Given the description of an element on the screen output the (x, y) to click on. 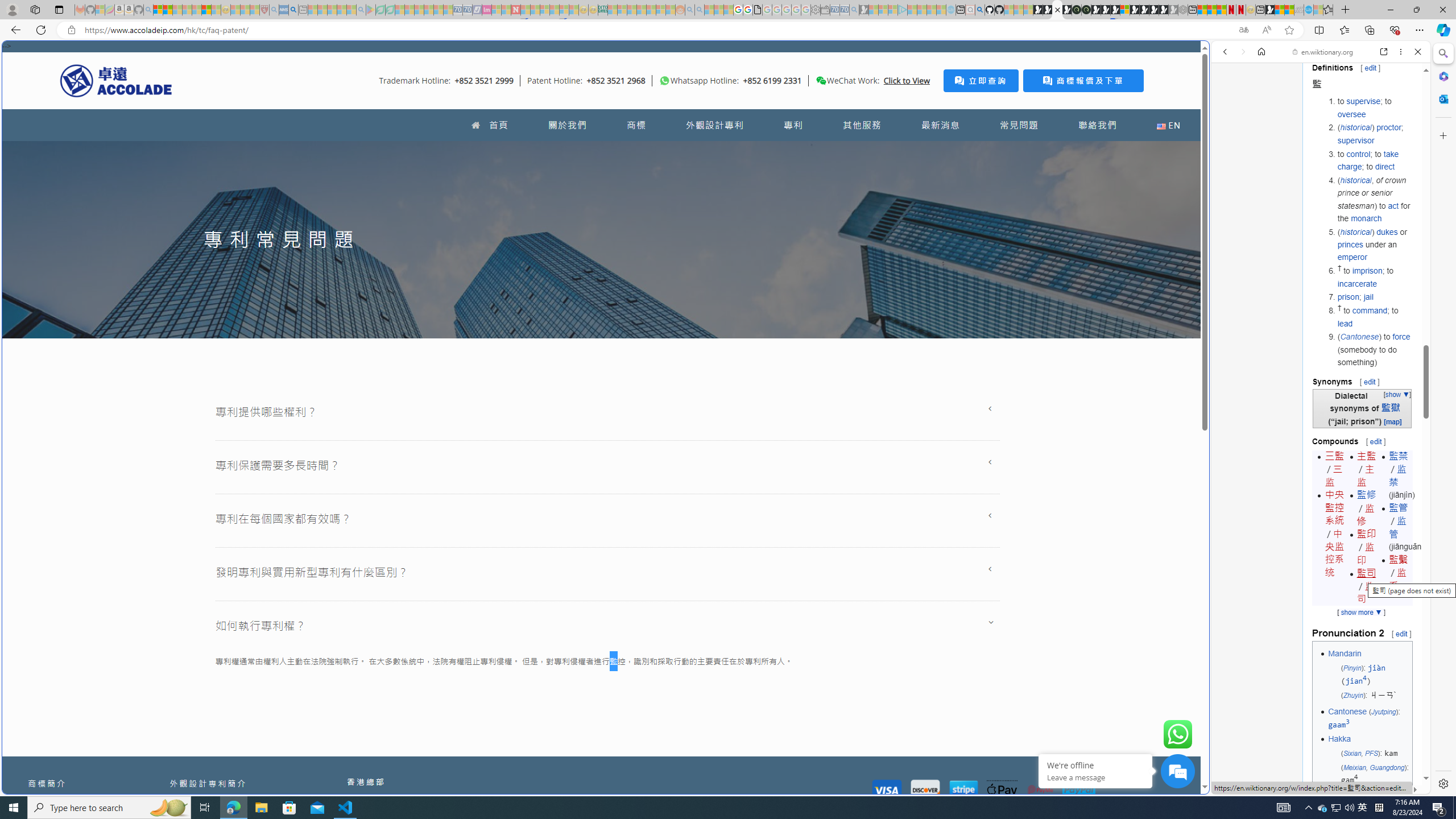
World - MSN (727, 389)
Wiktionary (1315, 380)
Navy Quest (1299, 9)
[map] (1392, 420)
Close split screen (1208, 57)
monarch (1366, 217)
